Given the description of an element on the screen output the (x, y) to click on. 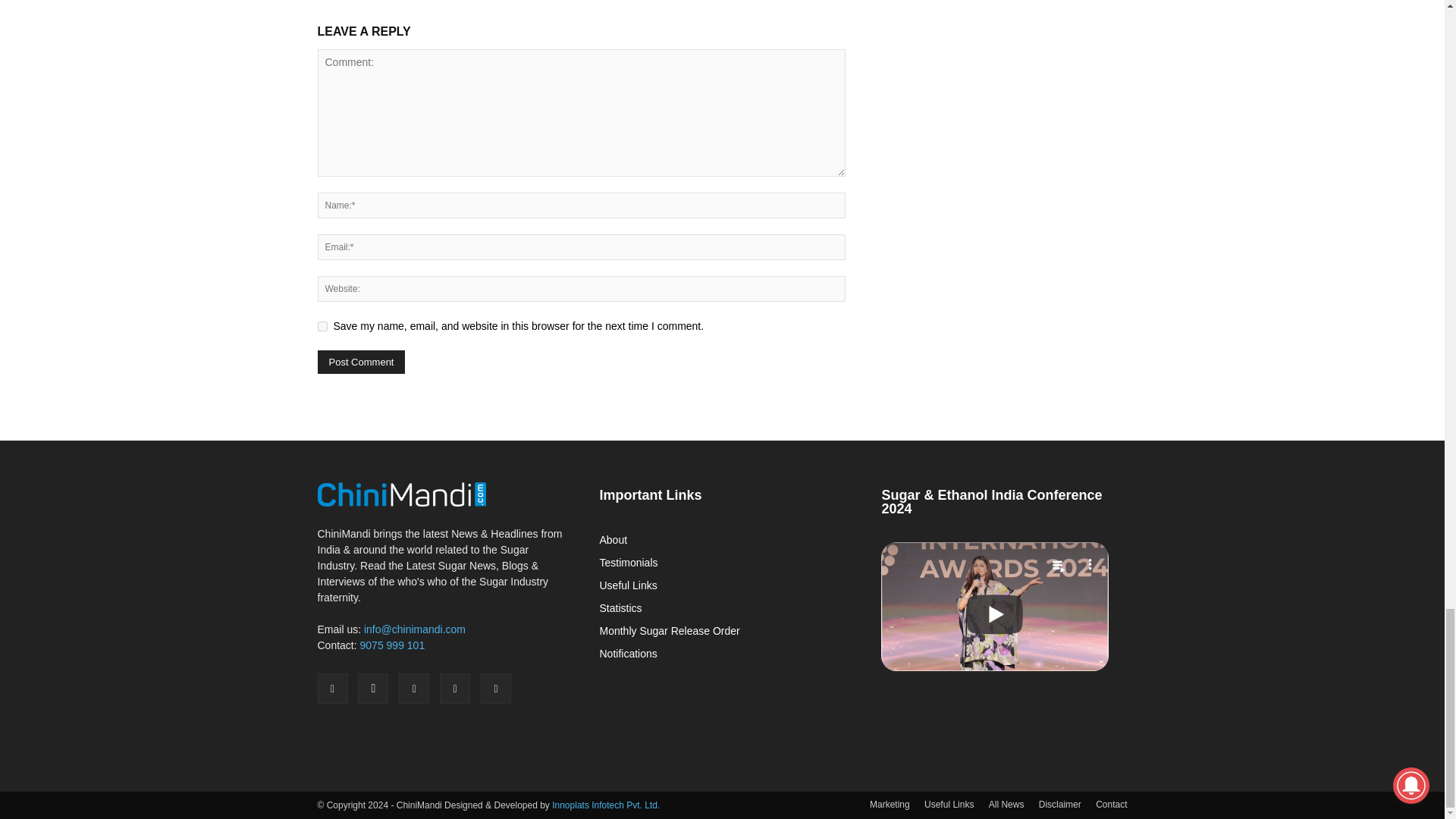
yes (321, 326)
Post Comment (360, 361)
